Given the description of an element on the screen output the (x, y) to click on. 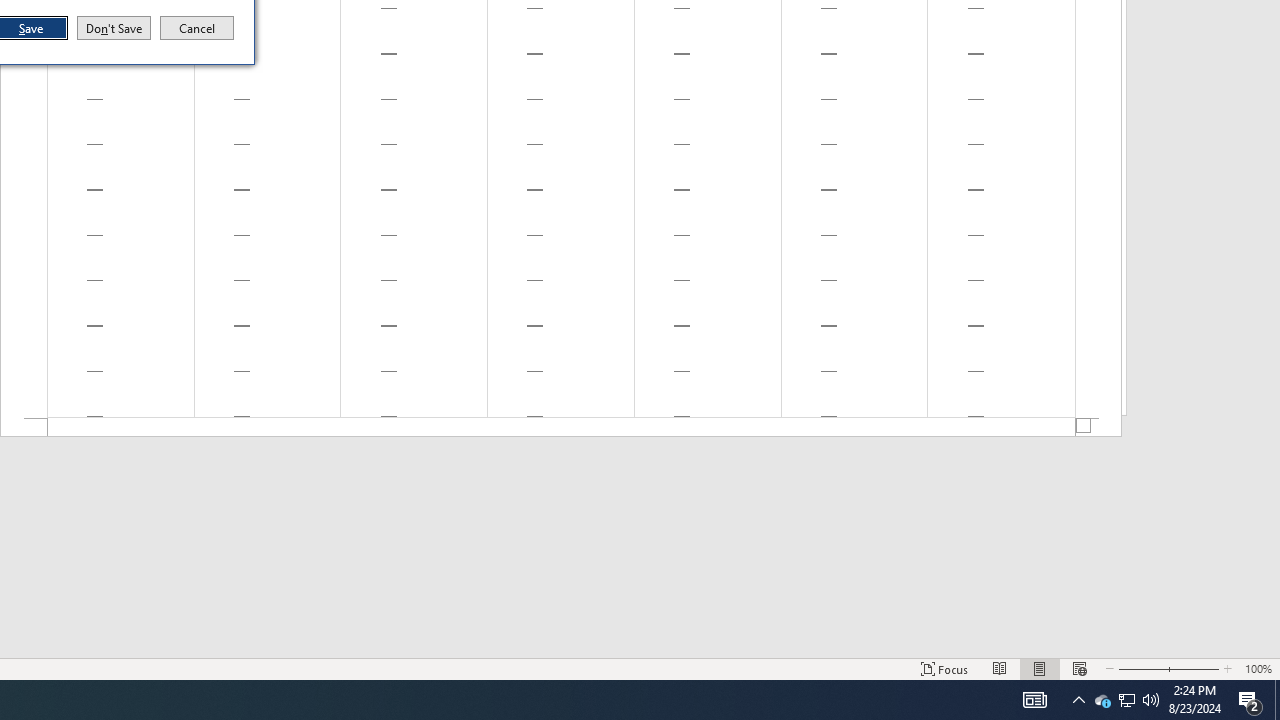
Cancel (197, 27)
Show desktop (1277, 699)
Footer -Section 1- (561, 427)
Q2790: 100% (1151, 699)
Don't Save (113, 27)
User Promoted Notification Area (1126, 699)
